Given the description of an element on the screen output the (x, y) to click on. 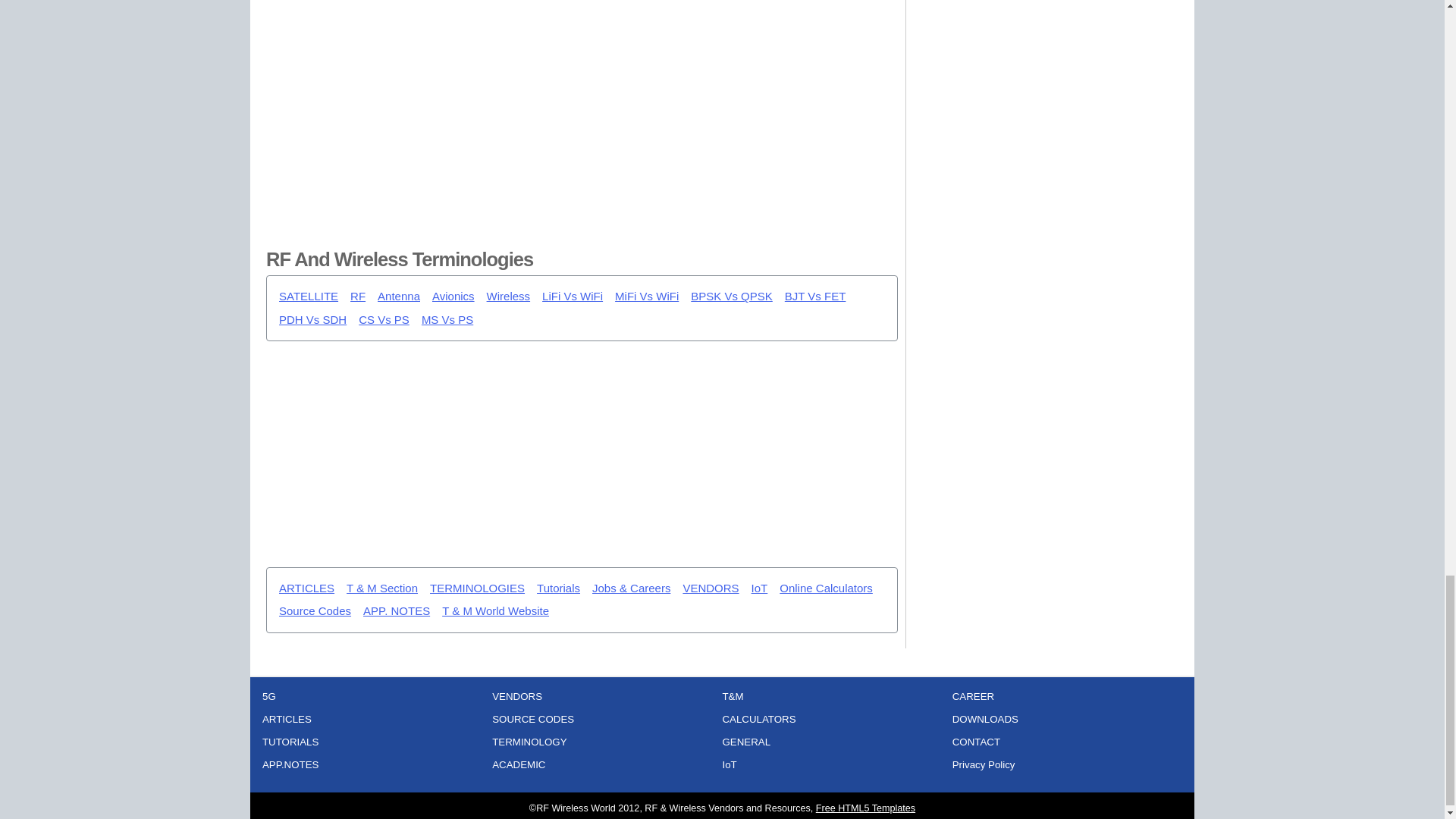
Antenna (398, 296)
Wireless (508, 296)
Avionics (453, 296)
LiFi Vs WiFi (571, 296)
PDH Vs SDH (312, 320)
BPSK Vs QPSK (731, 296)
SATELLITE (308, 296)
MiFi Vs WiFi (646, 296)
MS Vs PS (447, 320)
TERMINOLOGIES (476, 588)
BJT Vs FET (814, 296)
CS Vs PS (383, 320)
ARTICLES (306, 588)
